Given the description of an element on the screen output the (x, y) to click on. 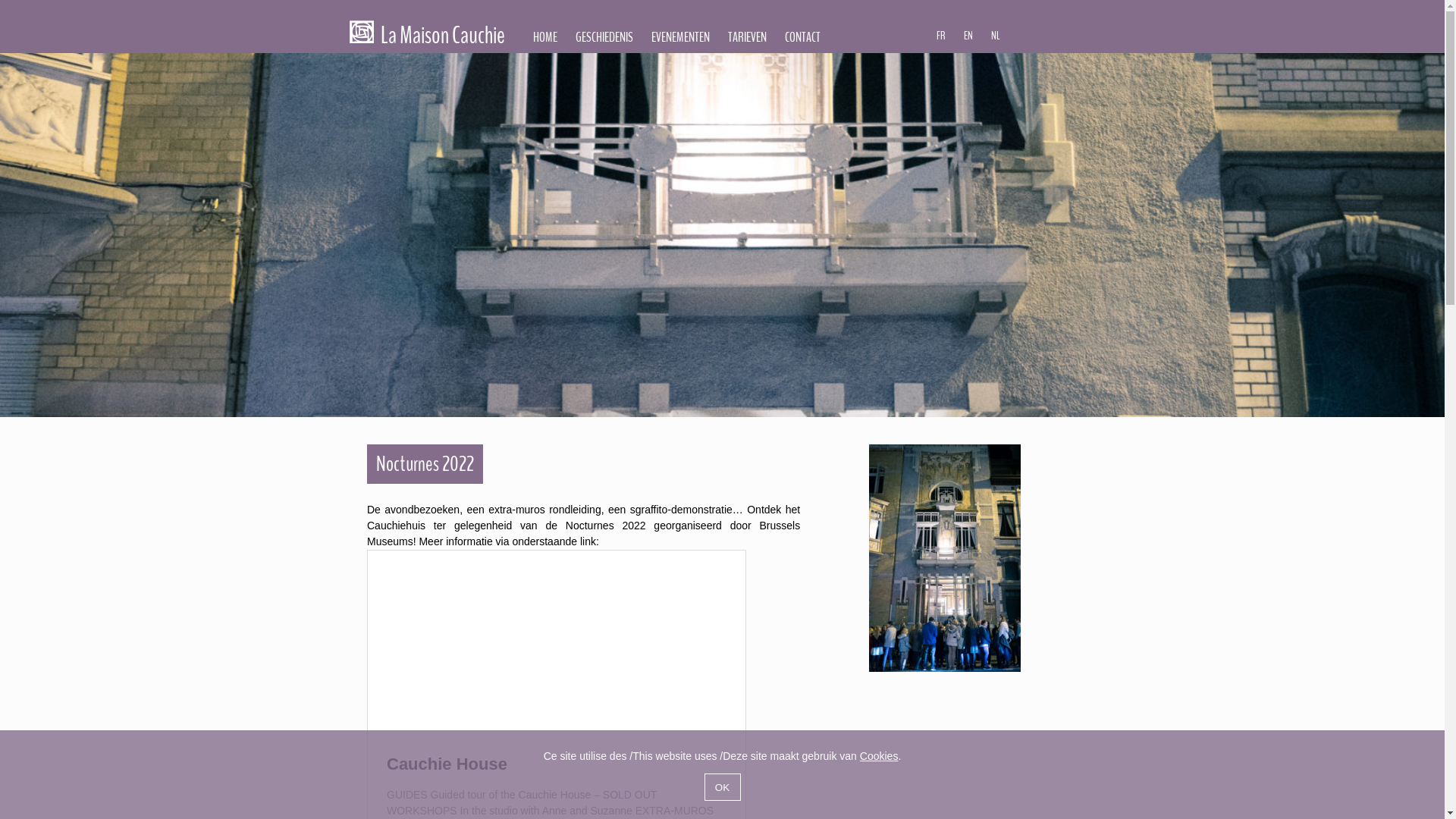
NL Element type: text (995, 35)
La Maison Cauchie Element type: text (427, 39)
OK Element type: text (721, 786)
FR Element type: text (940, 35)
Cookies Element type: text (878, 755)
CONTACT Element type: text (802, 36)
La Maison Cauchie - Nocturnes 2022 Element type: hover (944, 557)
La Maison Cauchie Element type: hover (361, 31)
EVENEMENTEN Element type: text (680, 36)
HOME Element type: text (545, 36)
TARIEVEN Element type: text (746, 36)
GESCHIEDENIS Element type: text (604, 36)
EN Element type: text (968, 35)
